Given the description of an element on the screen output the (x, y) to click on. 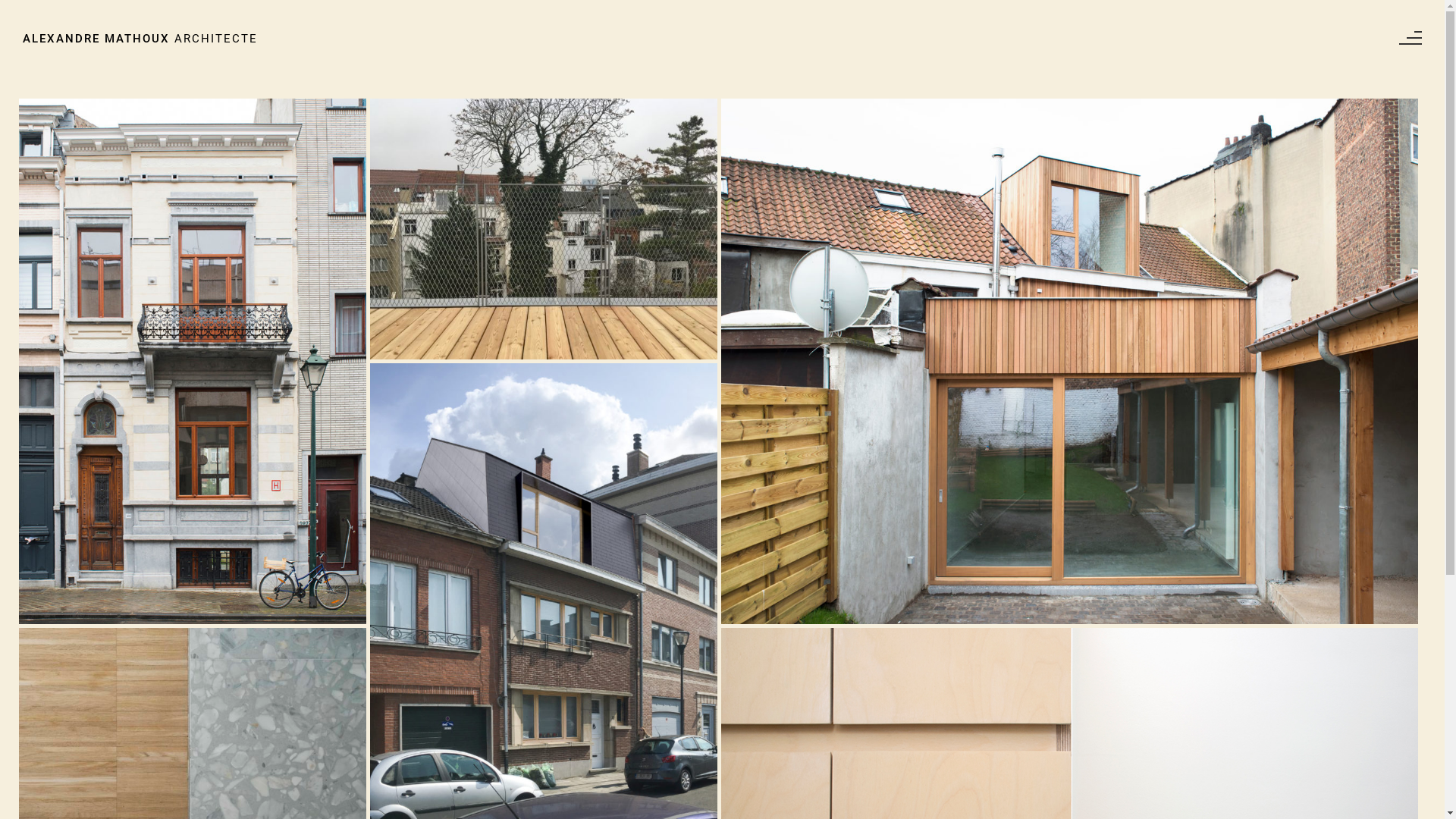
ALEXANDRE MATHOUX ARCHITECTE Element type: text (139, 38)
IMG_5679 Element type: hover (543, 228)
info@alexandremathoux.be Element type: text (831, 793)
Hamburger Menu Controller Element type: hover (1410, 37)
